Given the description of an element on the screen output the (x, y) to click on. 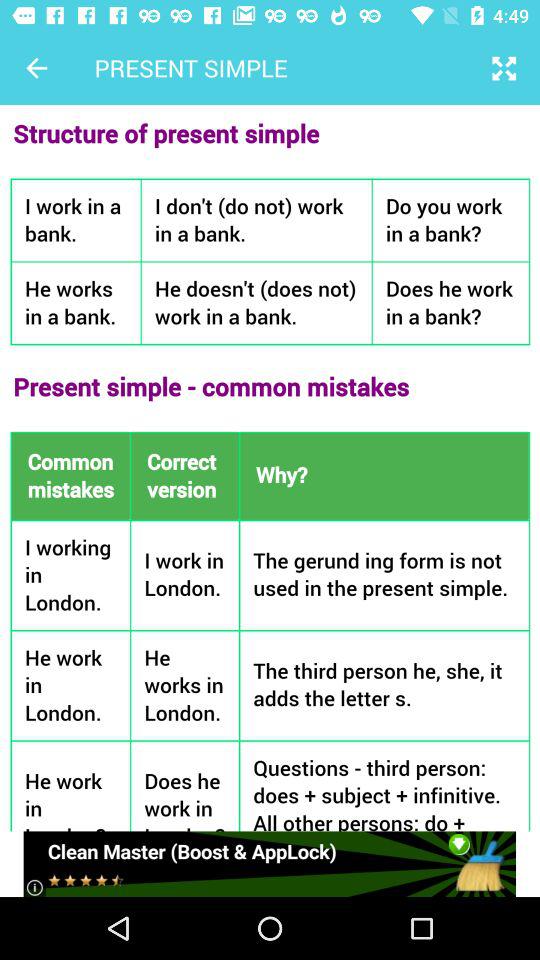
clean master opption (269, 864)
